Given the description of an element on the screen output the (x, y) to click on. 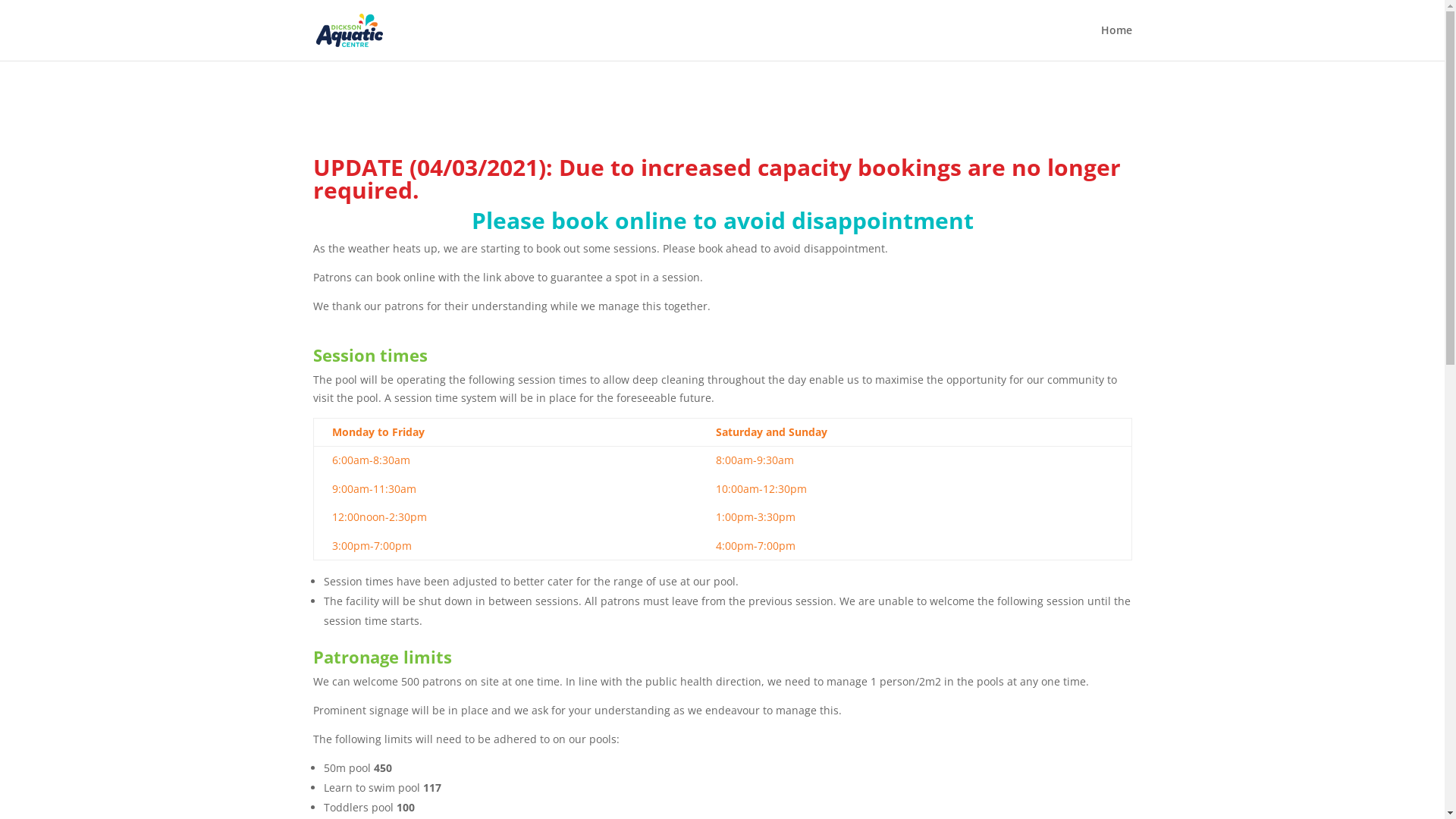
Home Element type: text (1116, 42)
